Given the description of an element on the screen output the (x, y) to click on. 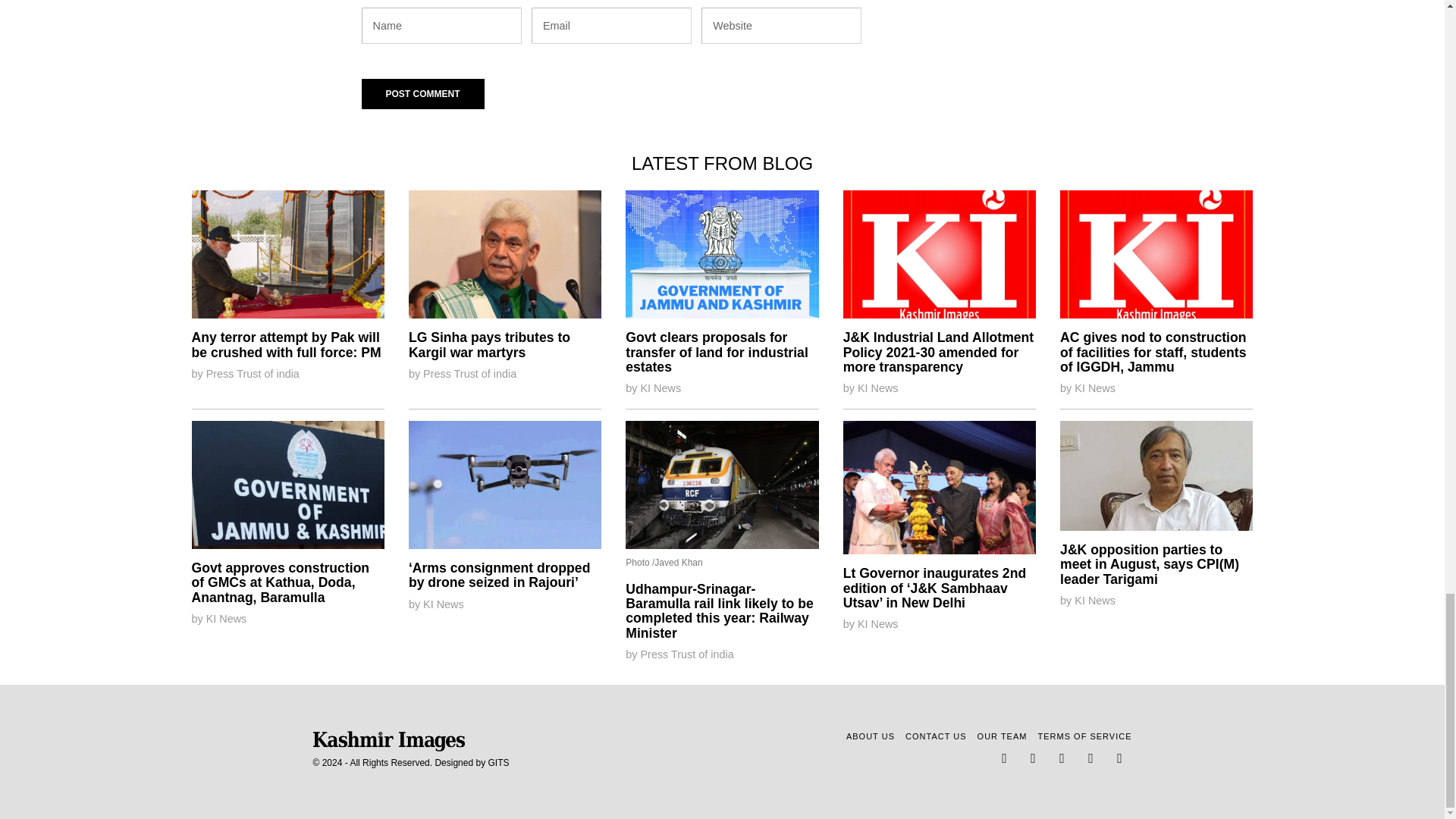
Post Comment (422, 93)
